Given the description of an element on the screen output the (x, y) to click on. 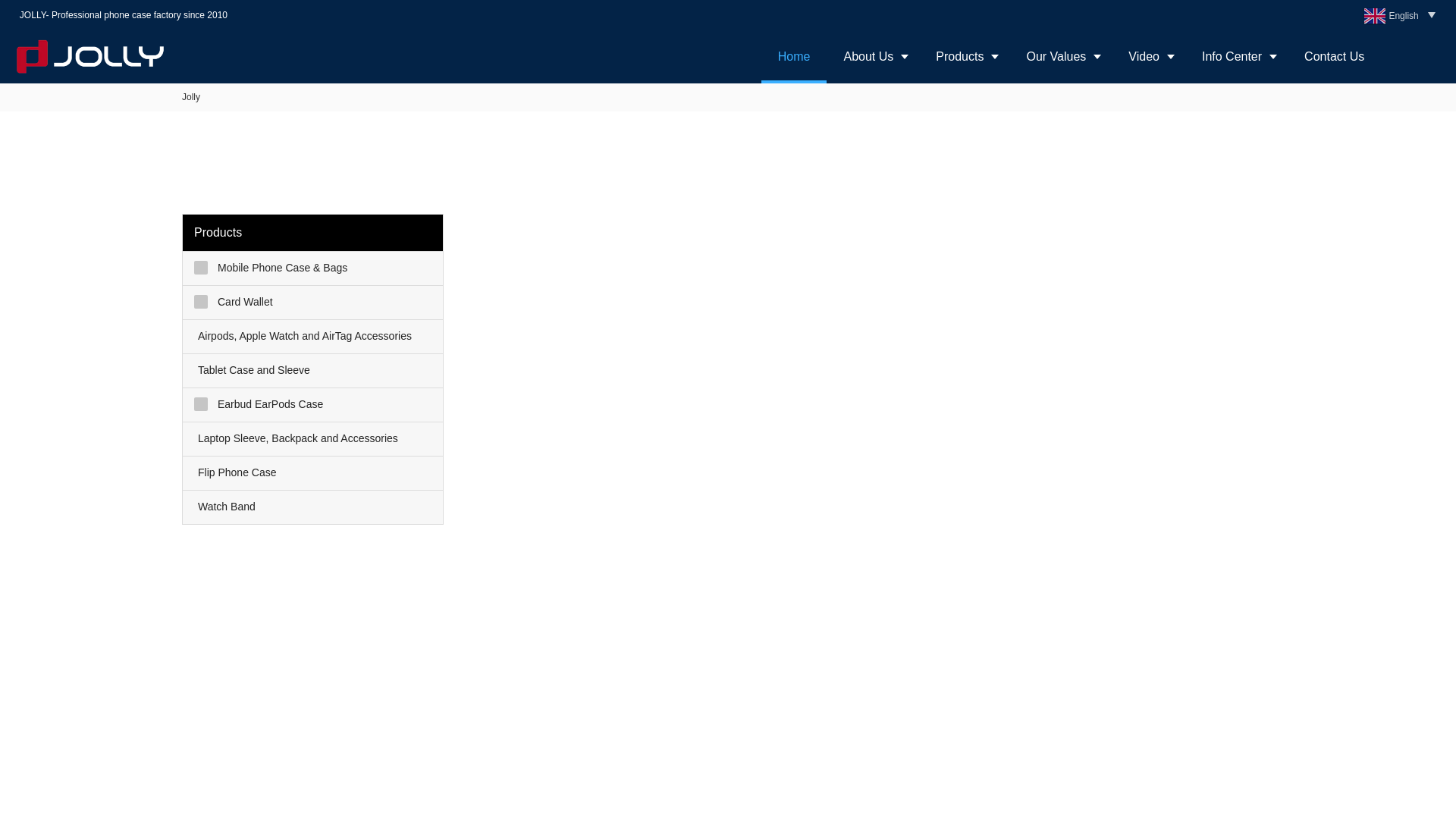
Info Center (1236, 56)
About Us (872, 56)
Video (1148, 56)
Products (963, 56)
Our Values (1060, 56)
Home (794, 56)
